Given the description of an element on the screen output the (x, y) to click on. 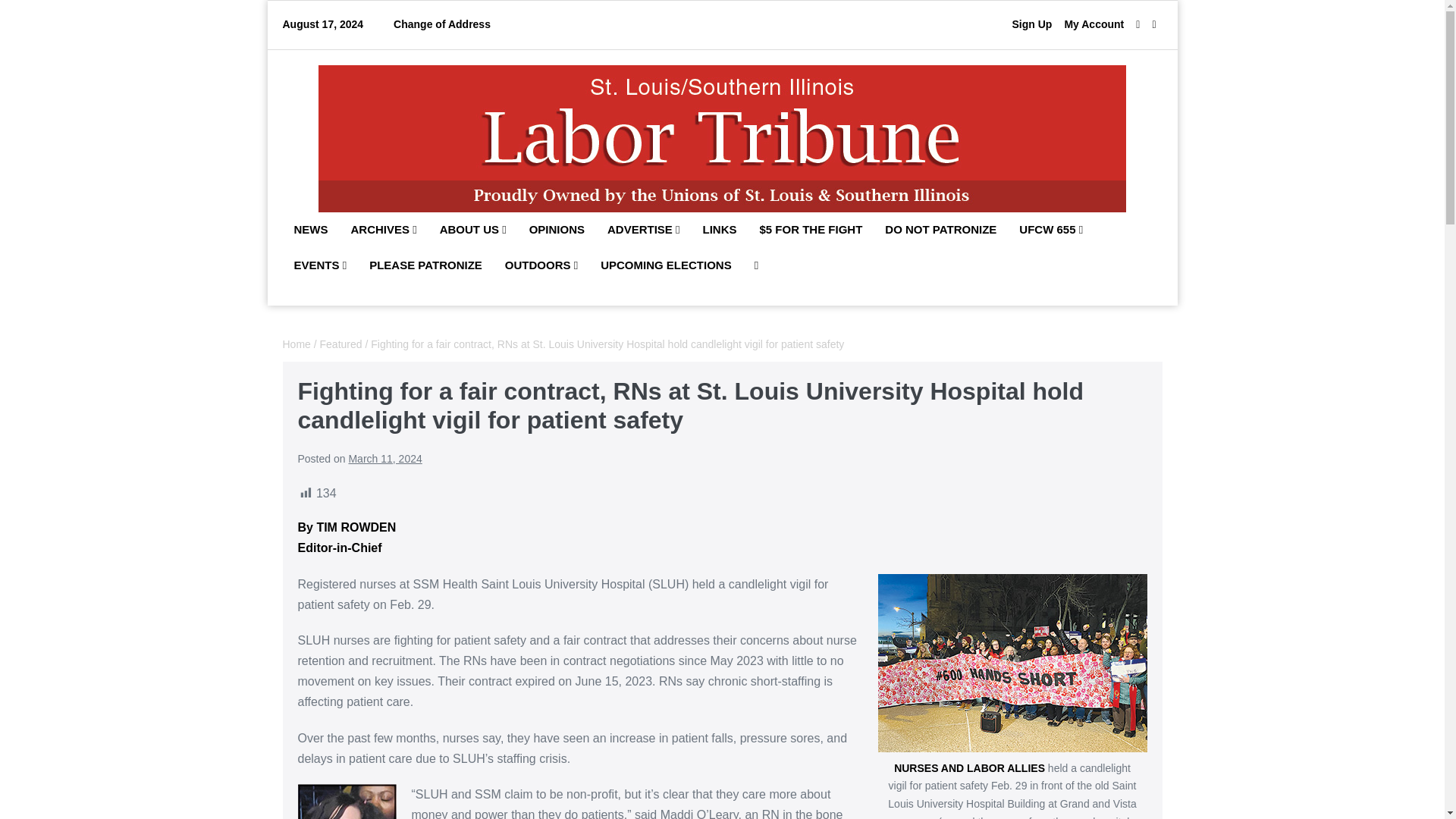
LINKS (719, 230)
NEWS (310, 230)
ABOUT US (473, 230)
UPCOMING ELECTIONS (665, 266)
EVENTS (320, 266)
The Labor Tribune (721, 138)
My Account (1093, 24)
OUTDOORS (541, 266)
DO NOT PATRONIZE (940, 230)
ADVERTISE (643, 230)
